Given the description of an element on the screen output the (x, y) to click on. 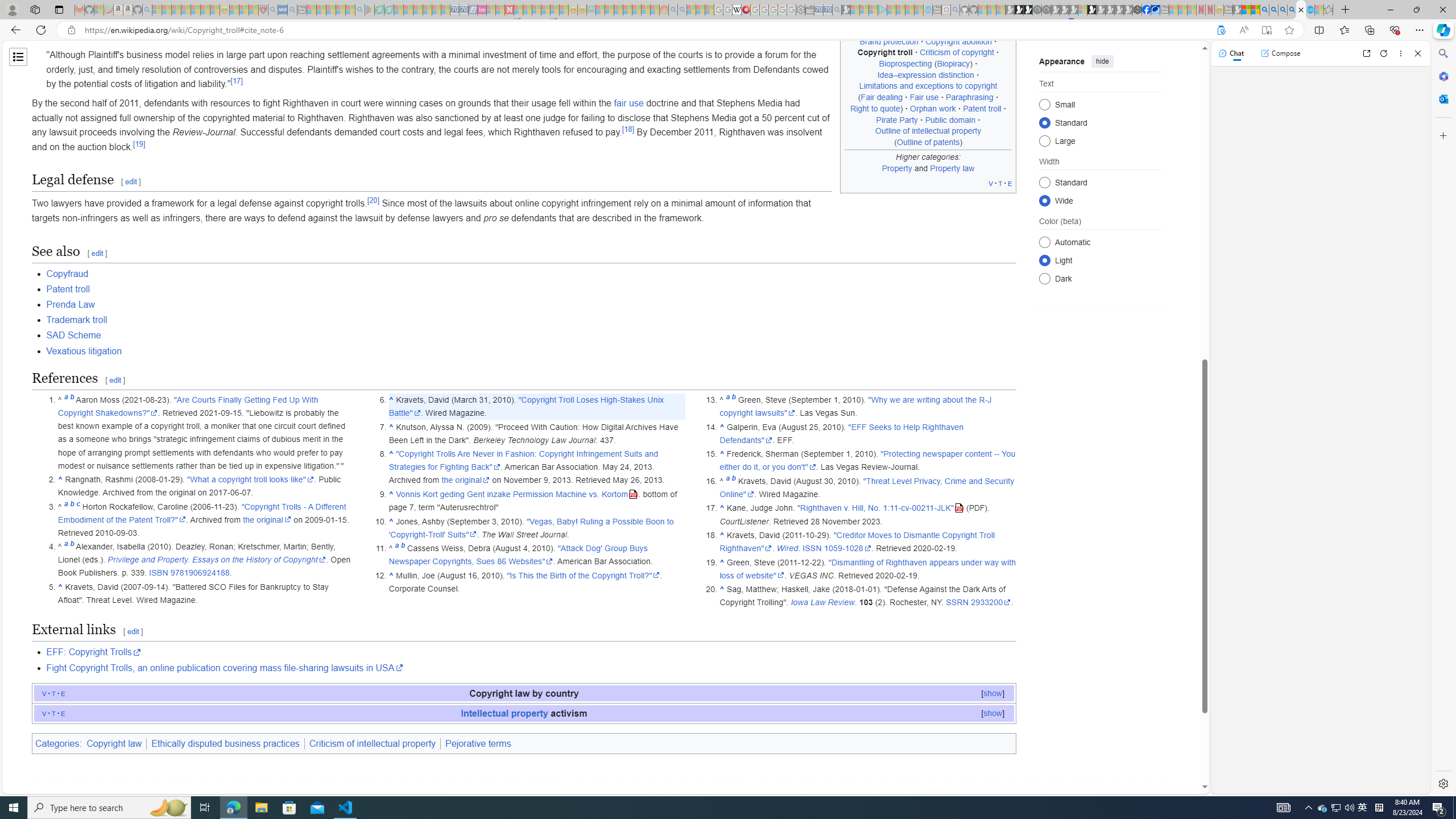
Right to quote) (876, 108)
list of asthma inhalers uk - Search - Sleeping (272, 9)
Criticism of intellectual property (372, 742)
Outline of intellectual property (Outline of patents) (928, 136)
1059-1028 (848, 548)
Standard (1044, 182)
Home | Sky Blue Bikes - Sky Blue Bikes - Sleeping (927, 9)
(Outline of patents) (927, 141)
Light (1044, 259)
Pets - MSN - Sleeping (340, 9)
